Given the description of an element on the screen output the (x, y) to click on. 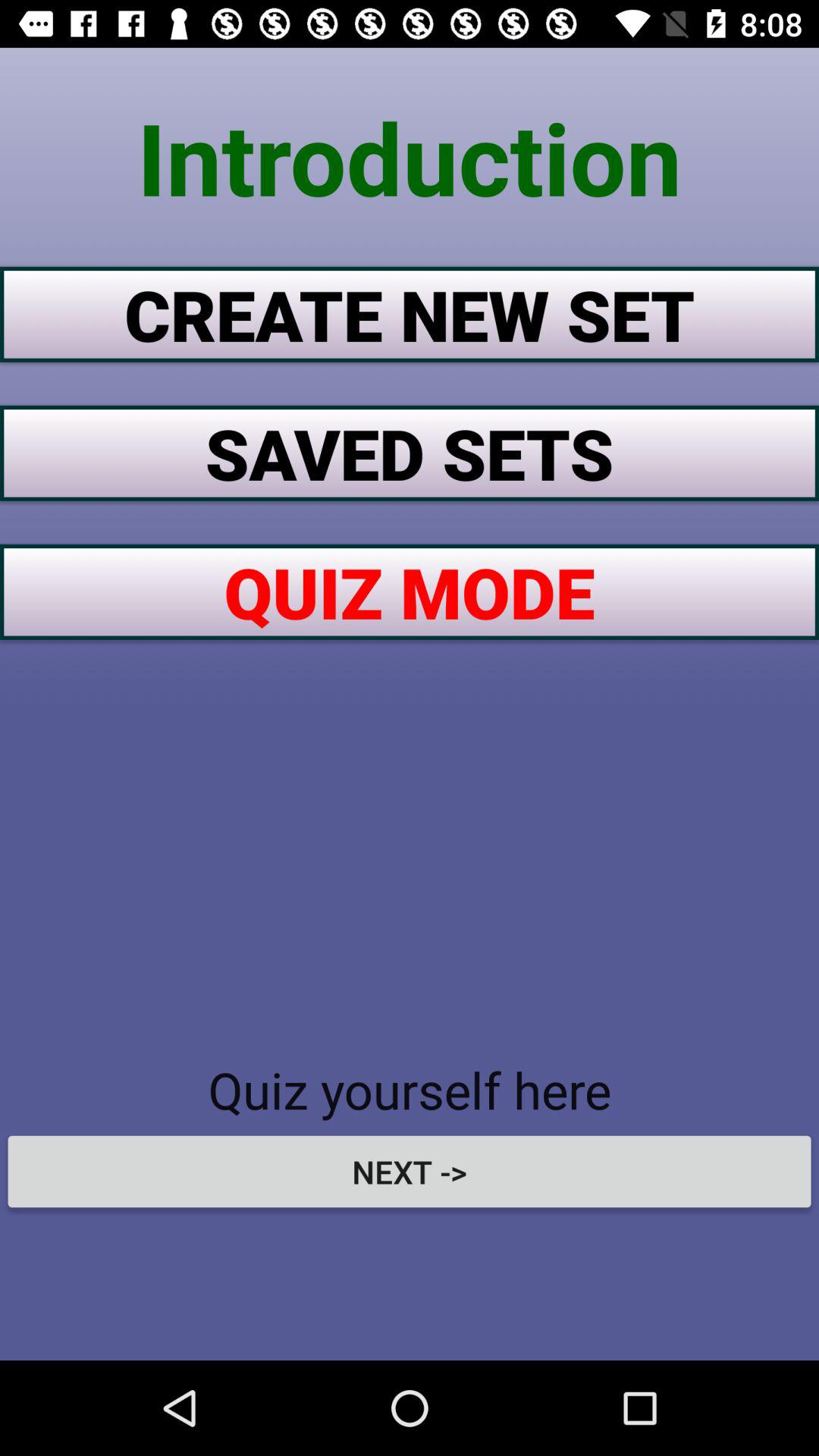
open item above the saved sets item (409, 314)
